Given the description of an element on the screen output the (x, y) to click on. 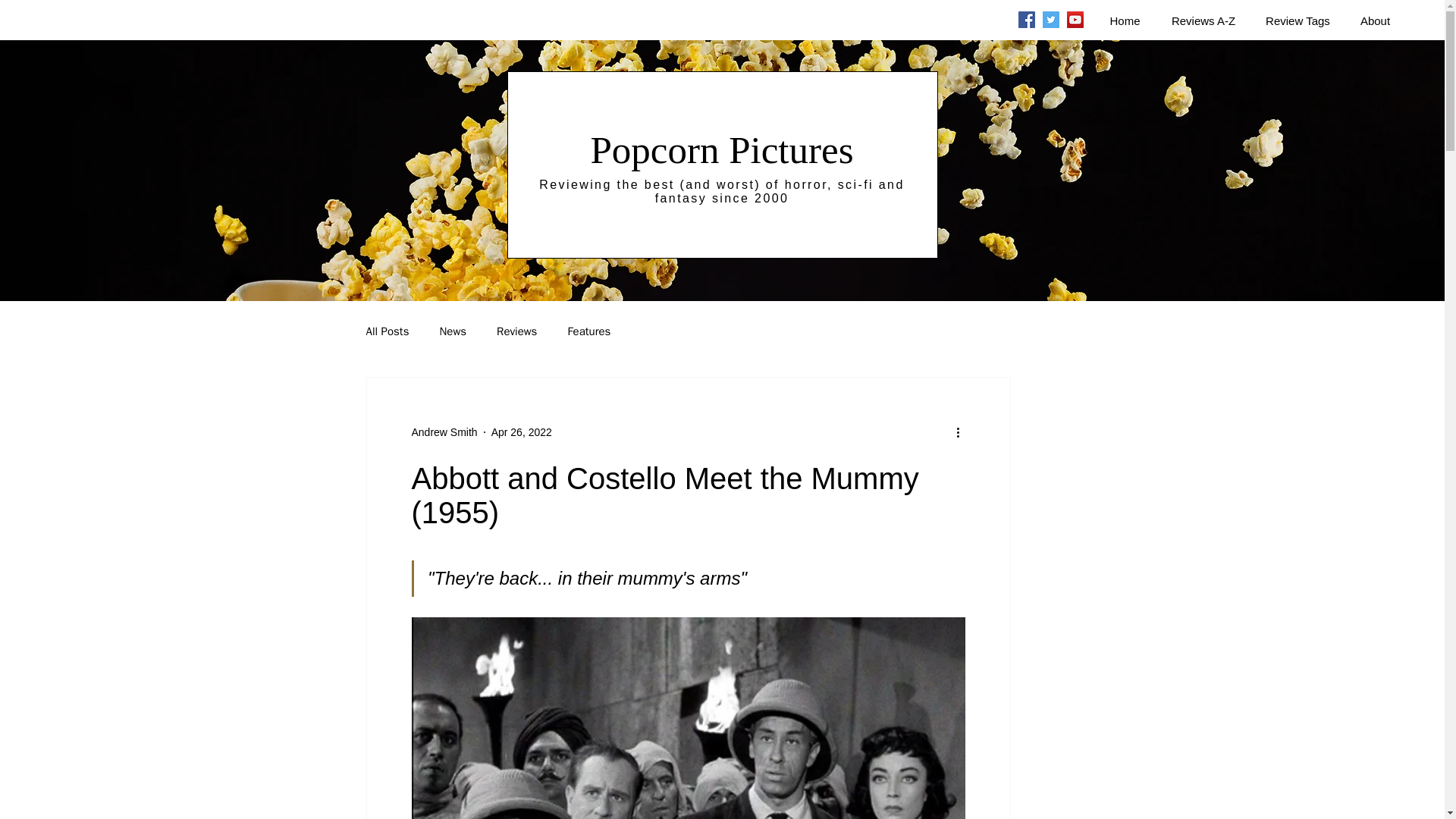
Apr 26, 2022 (521, 431)
Review Tags (1297, 21)
About (1375, 21)
Reviews (516, 331)
Andrew Smith (443, 432)
All Posts (387, 331)
Reviews A-Z (1203, 21)
News (452, 331)
Home (1124, 21)
Features (588, 331)
